Given the description of an element on the screen output the (x, y) to click on. 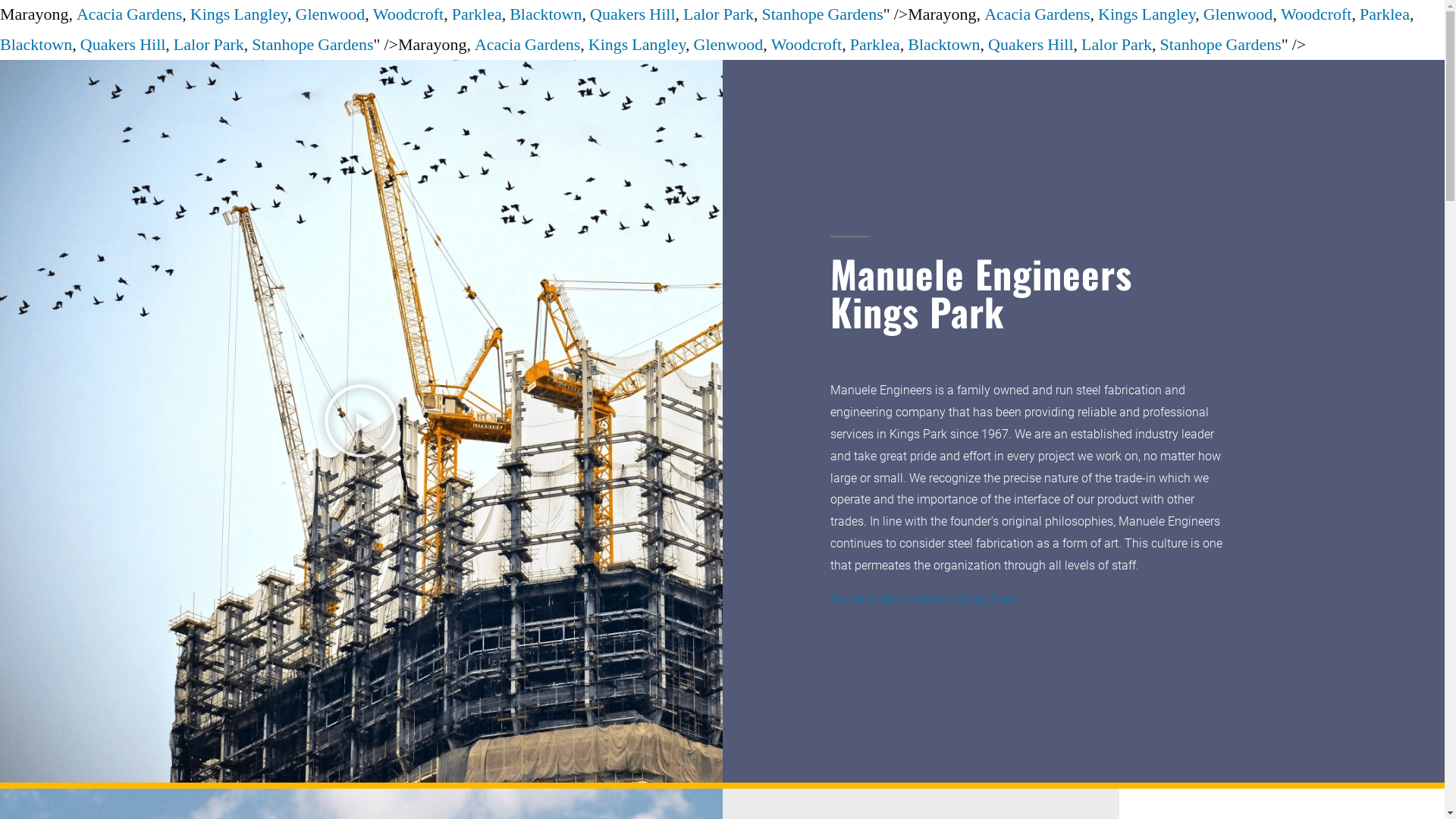
Quakers Hill Element type: text (1030, 44)
Glenwood Element type: text (330, 14)
Lalor Park Element type: text (208, 44)
Woodcroft Element type: text (1316, 14)
Blacktown Element type: text (943, 44)
Acacia Gardens Element type: text (129, 14)
Blacktown Element type: text (545, 14)
Acacia Gardens Element type: text (527, 44)
Blacktown Element type: text (36, 44)
Stanhope Gardens Element type: text (822, 14)
Stanhope Gardens Element type: text (1220, 44)
Kings Langley Element type: text (1146, 14)
Glenwood Element type: text (728, 44)
Acacia Gardens Element type: text (1036, 14)
For other electricians in Kings Park Element type: text (922, 599)
Quakers Hill Element type: text (632, 14)
Quakers Hill Element type: text (123, 44)
Parklea Element type: text (476, 14)
Kings Langley Element type: text (238, 14)
Parklea Element type: text (875, 44)
Lalor Park Element type: text (1116, 44)
Parklea Element type: text (1384, 14)
Glenwood Element type: text (1238, 14)
Lalor Park Element type: text (718, 14)
Woodcroft Element type: text (806, 44)
Woodcroft Element type: text (408, 14)
Stanhope Gardens Element type: text (312, 44)
Kings Langley Element type: text (636, 44)
